Given the description of an element on the screen output the (x, y) to click on. 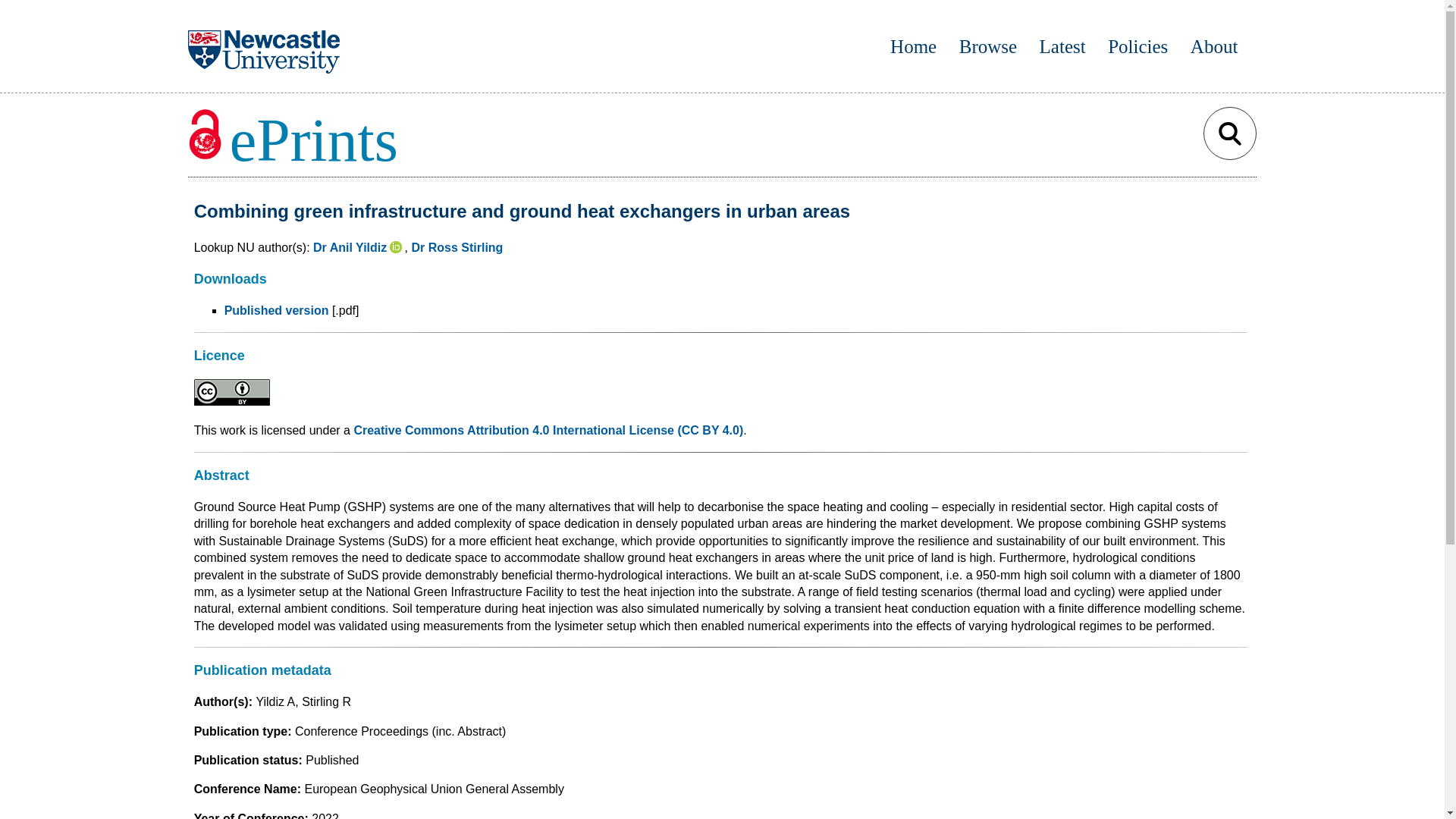
Latest (1062, 46)
About (1215, 46)
Policies (1137, 46)
Home (912, 46)
View ePrints listed within the last month (1062, 46)
About Open Access (1215, 46)
Newcastle University eprints (309, 140)
ORCID: 0000-0002-2257-7025 (397, 246)
submit (1230, 133)
submit (1230, 133)
ePrints homepage (912, 46)
ePrints (292, 140)
Browse (987, 46)
submit (1230, 133)
View usage policies (1137, 46)
